Given the description of an element on the screen output the (x, y) to click on. 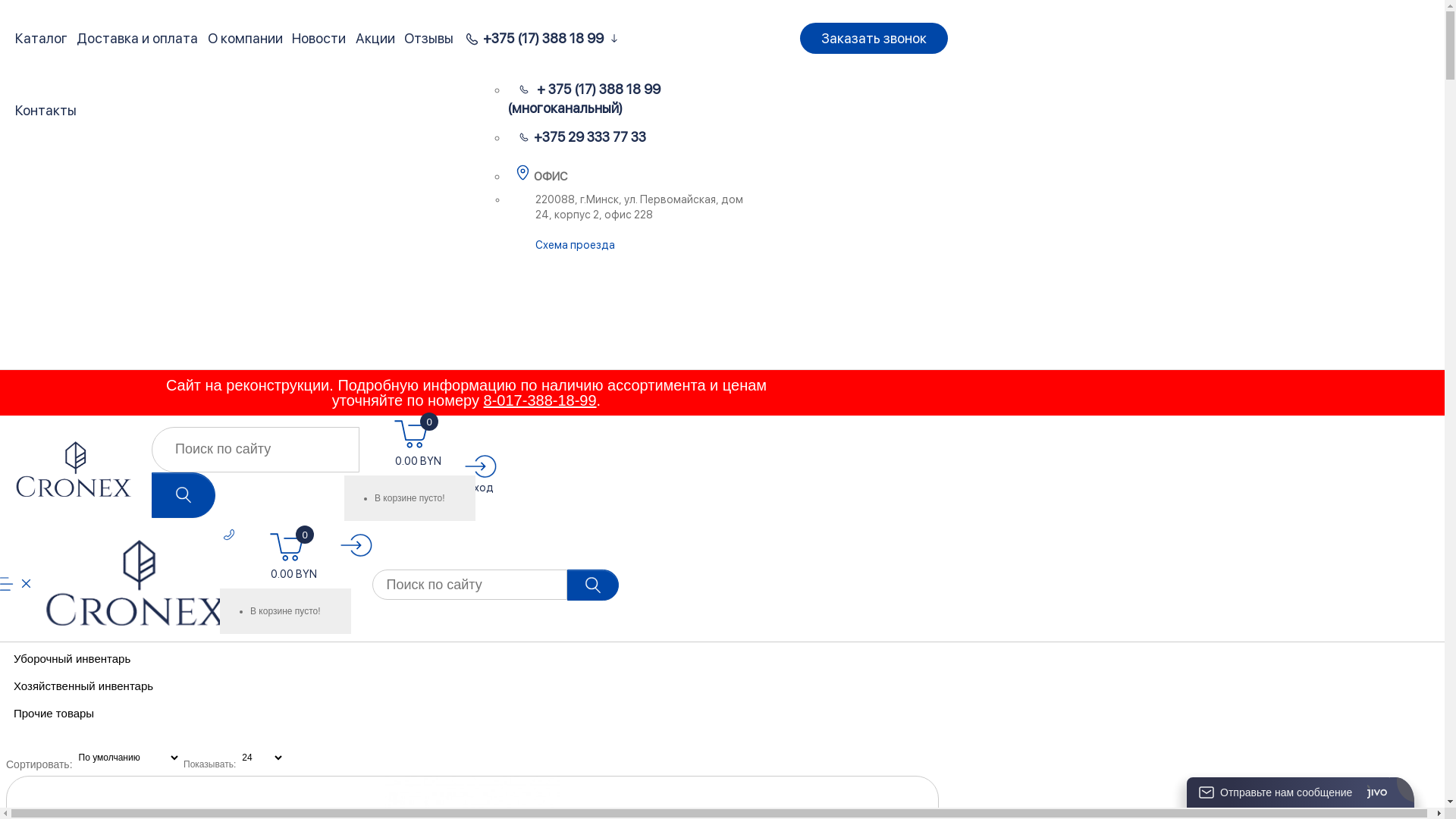
+375 29 333 77 33 Element type: text (582, 136)
8-017-388-18-99 Element type: text (539, 400)
0 Element type: text (407, 435)
Cronex.by Element type: hover (75, 469)
+ 375 (17) 388 18 99 Element type: text (589, 88)
0 Element type: text (282, 547)
+375 (17) 388 18 99 Element type: text (543, 38)
